Given the description of an element on the screen output the (x, y) to click on. 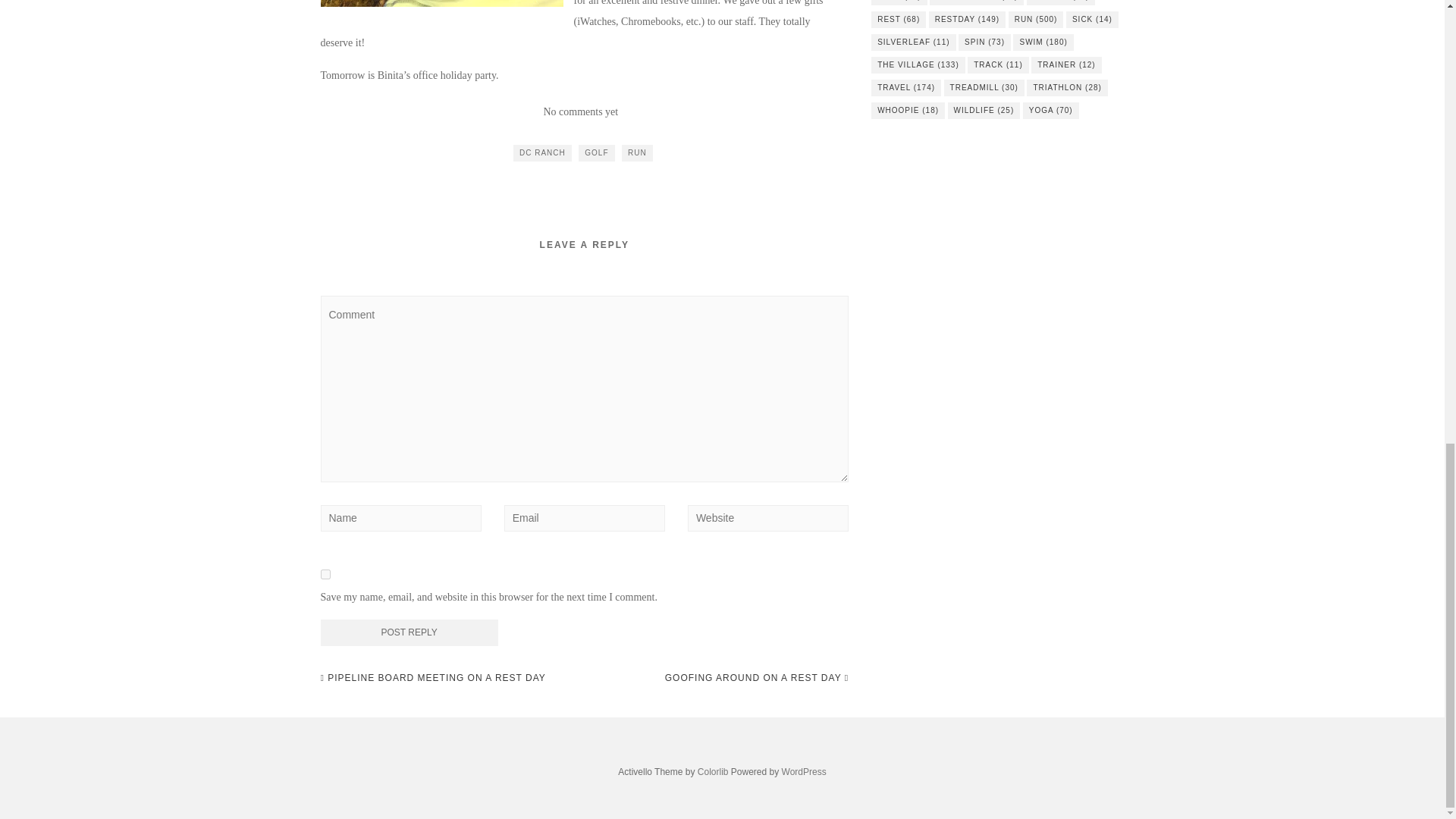
GOOFING AROUND ON A REST DAY (756, 678)
yes (325, 574)
Post Reply (408, 632)
PIPELINE BOARD MEETING ON A REST DAY (432, 678)
RUN (636, 152)
Post Reply (408, 632)
No comments yet (580, 111)
GOLF (596, 152)
DC RANCH (542, 152)
